Given the description of an element on the screen output the (x, y) to click on. 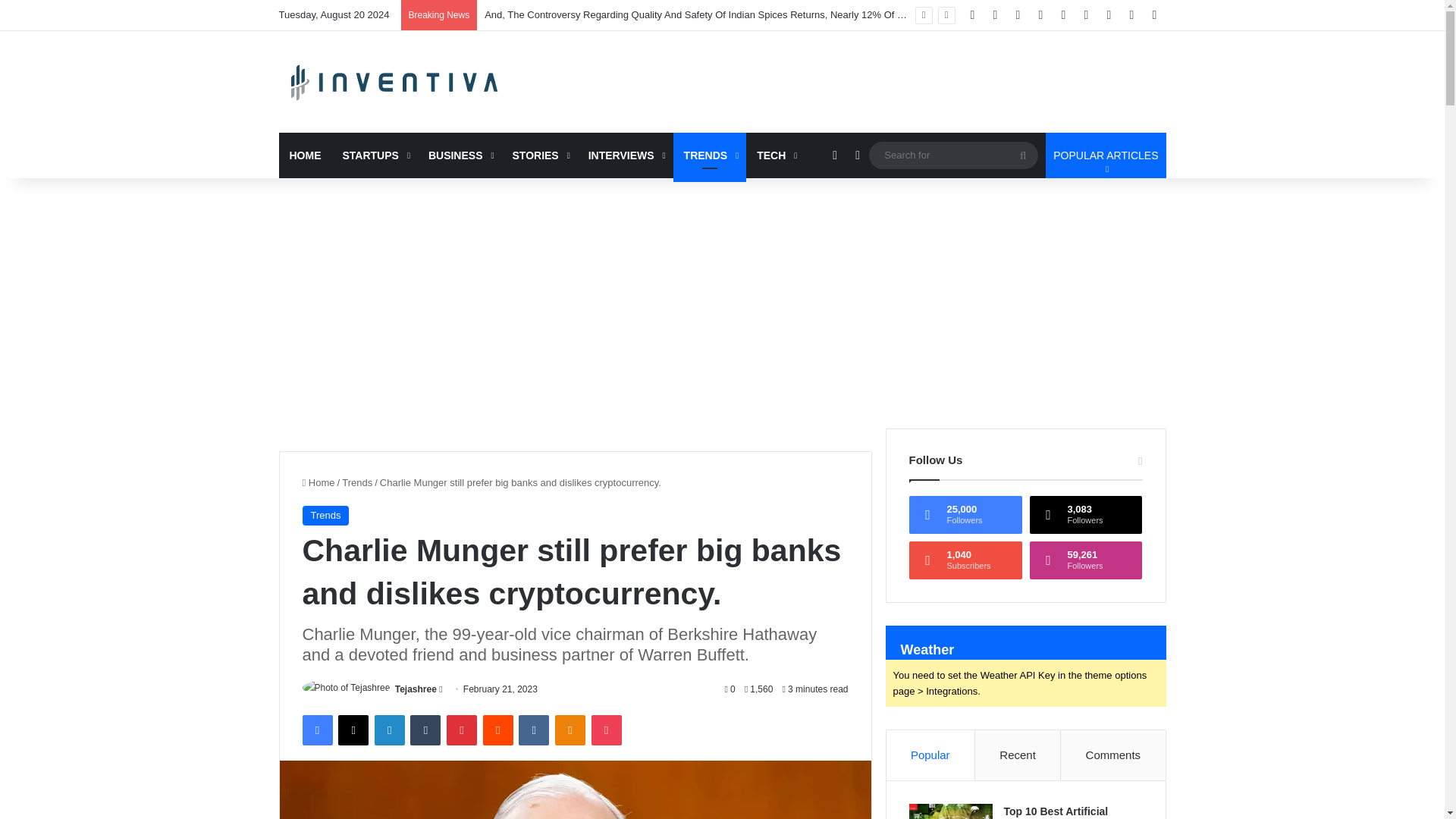
Search for (953, 154)
STORIES (540, 155)
Search for (1022, 154)
Pinterest (461, 729)
INTERVIEWS (625, 155)
BUSINESS (459, 155)
LinkedIn (389, 729)
X (352, 729)
HOME (305, 155)
